Given the description of an element on the screen output the (x, y) to click on. 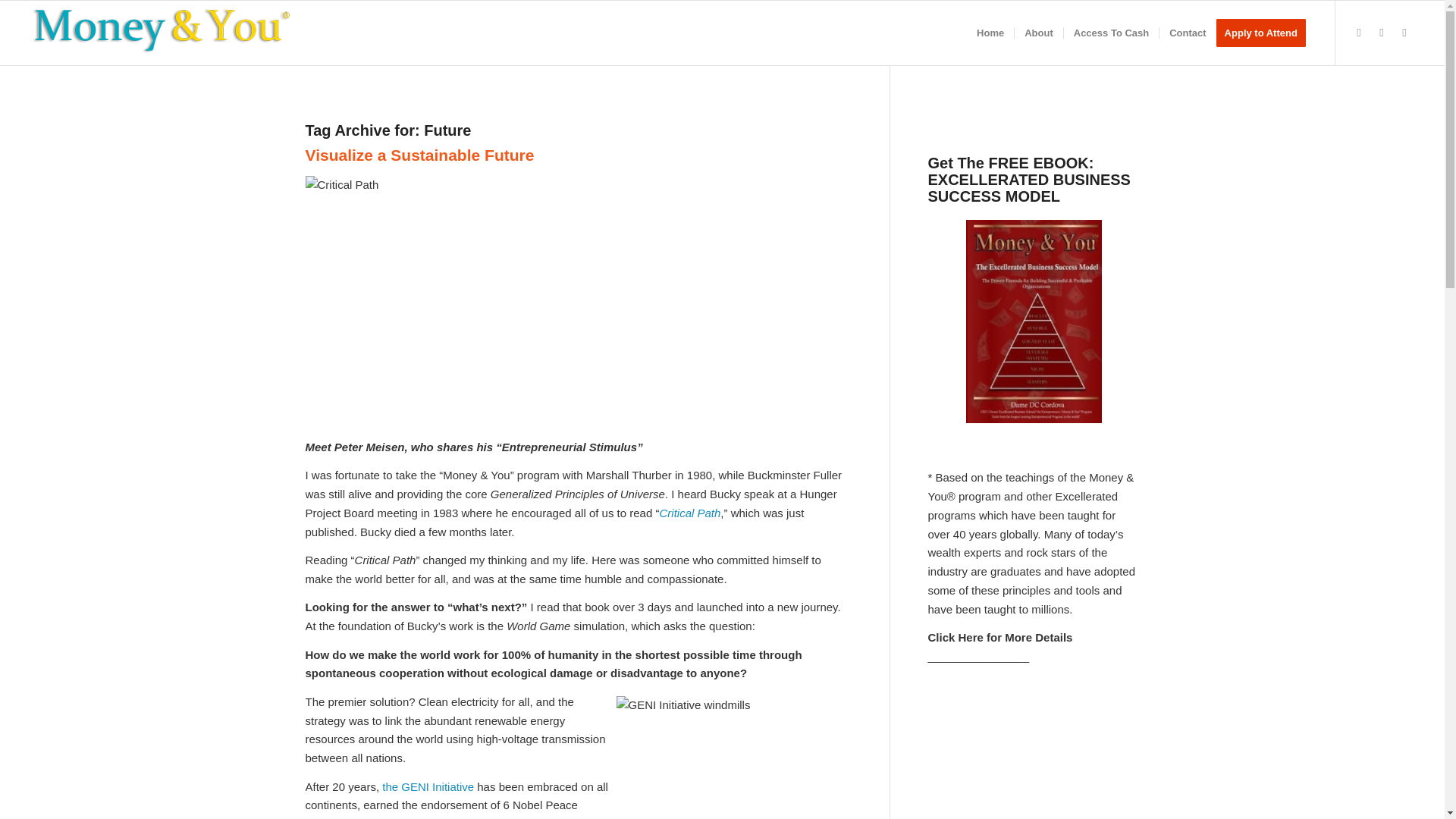
Twitter (1359, 32)
Facebook (1381, 32)
Critical Path (689, 512)
GENI Initiative windmills (729, 757)
Youtube (1404, 32)
Permanent Link: Visualize a Sustainable Future (419, 154)
the GENI Initiative (427, 786)
Apply to Attend (1265, 32)
Visualize a Sustainable Future (419, 154)
Critical Path (494, 302)
Access To Cash (1110, 32)
Click Here for More Details (1000, 636)
